Given the description of an element on the screen output the (x, y) to click on. 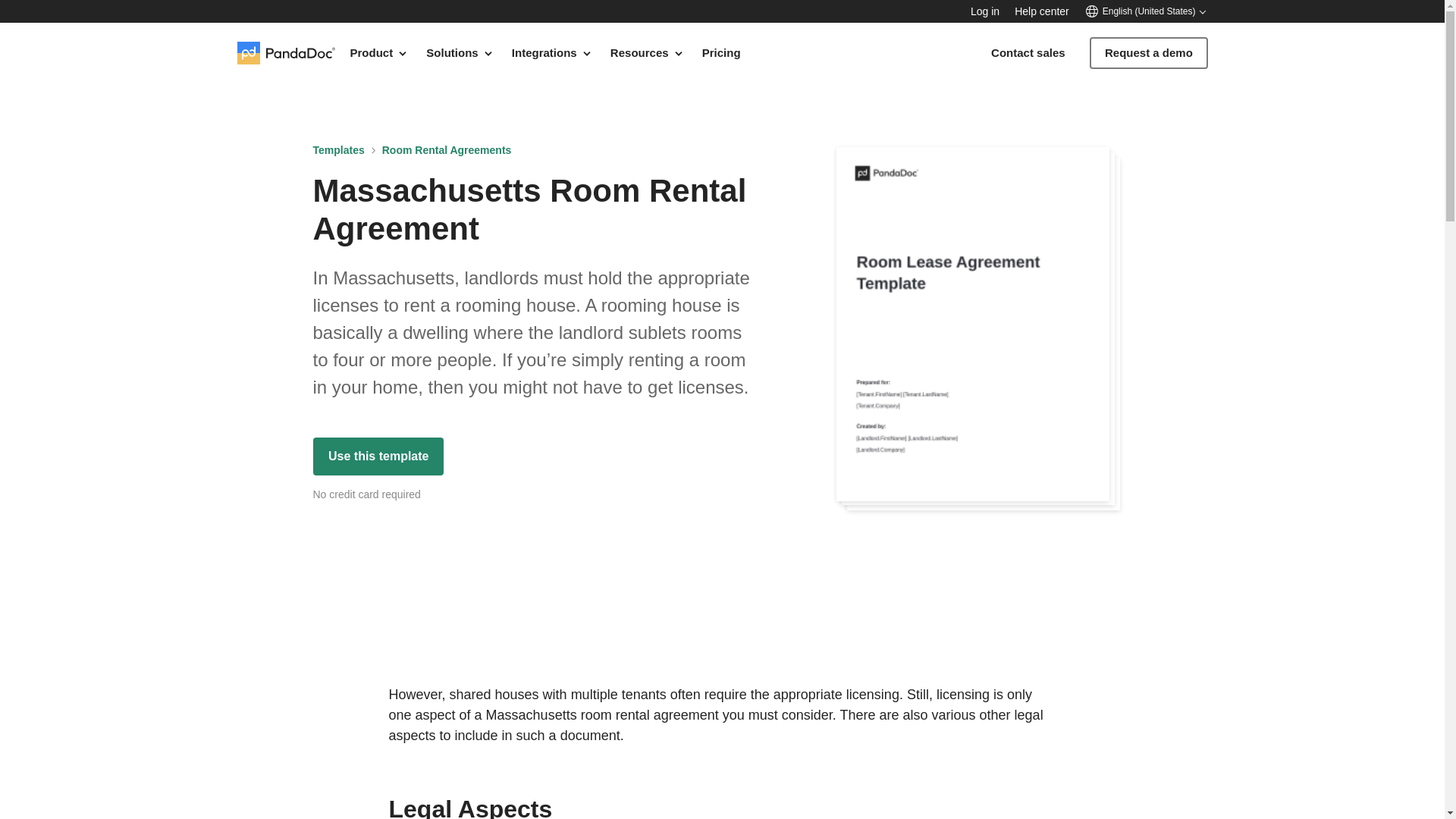
Help center (1041, 10)
Product (379, 52)
Solutions (459, 52)
Log in (984, 10)
